Given the description of an element on the screen output the (x, y) to click on. 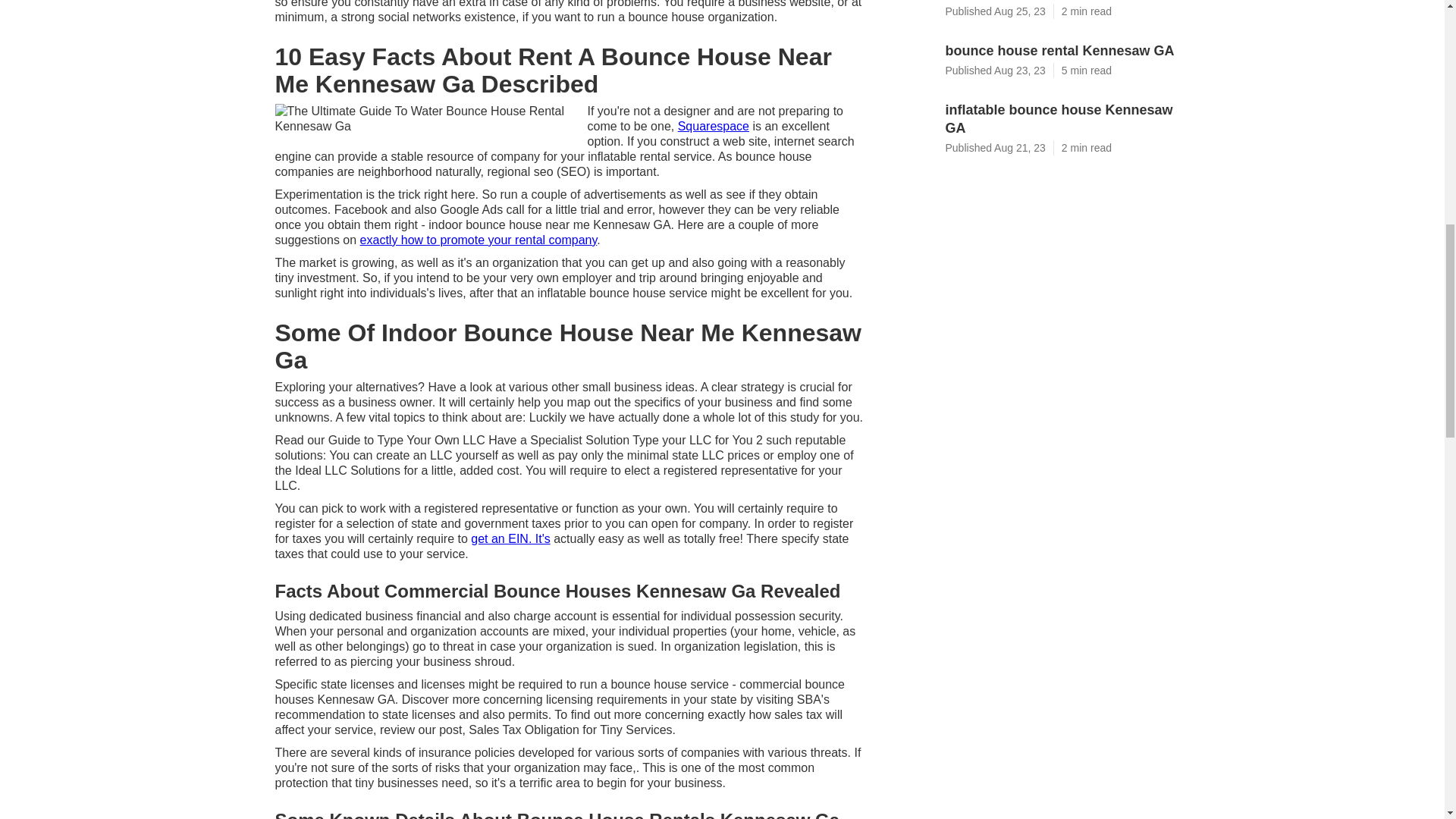
Squarespace (713, 125)
get an EIN. It's (510, 538)
exactly how to promote your rental company (477, 239)
